Given the description of an element on the screen output the (x, y) to click on. 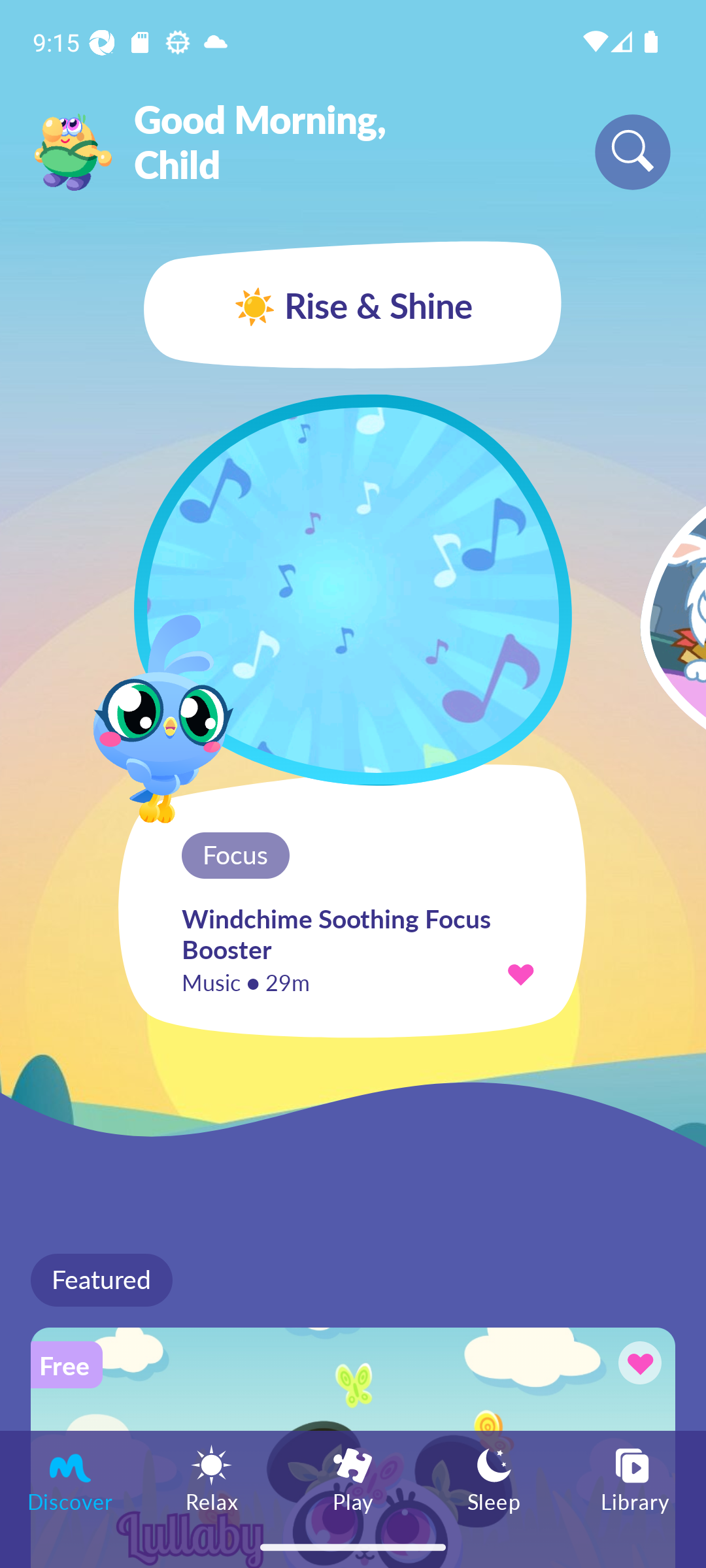
Search (632, 151)
action (520, 973)
Button (636, 1365)
Relax (211, 1478)
Play (352, 1478)
Sleep (493, 1478)
Library (635, 1478)
